Given the description of an element on the screen output the (x, y) to click on. 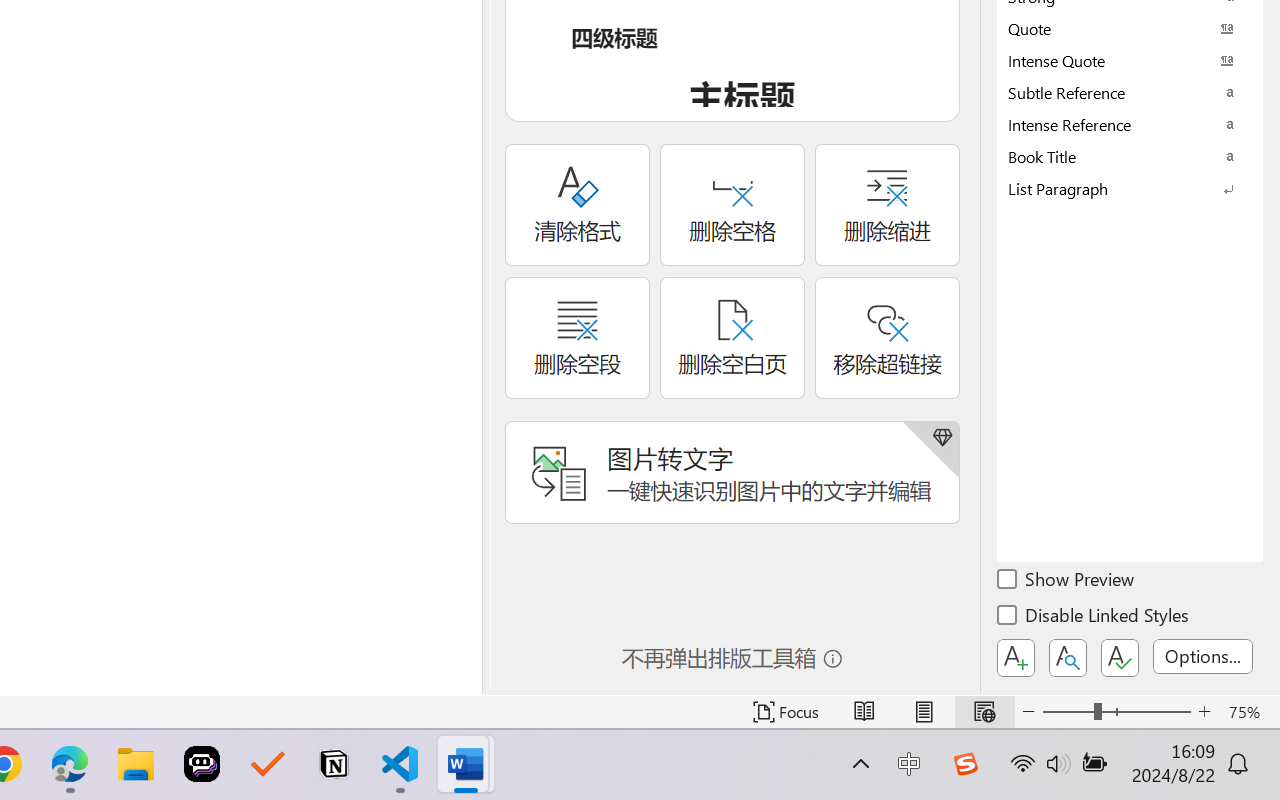
Print Layout (924, 712)
Web Layout (984, 712)
Class: NetUIButton (1119, 657)
